Given the description of an element on the screen output the (x, y) to click on. 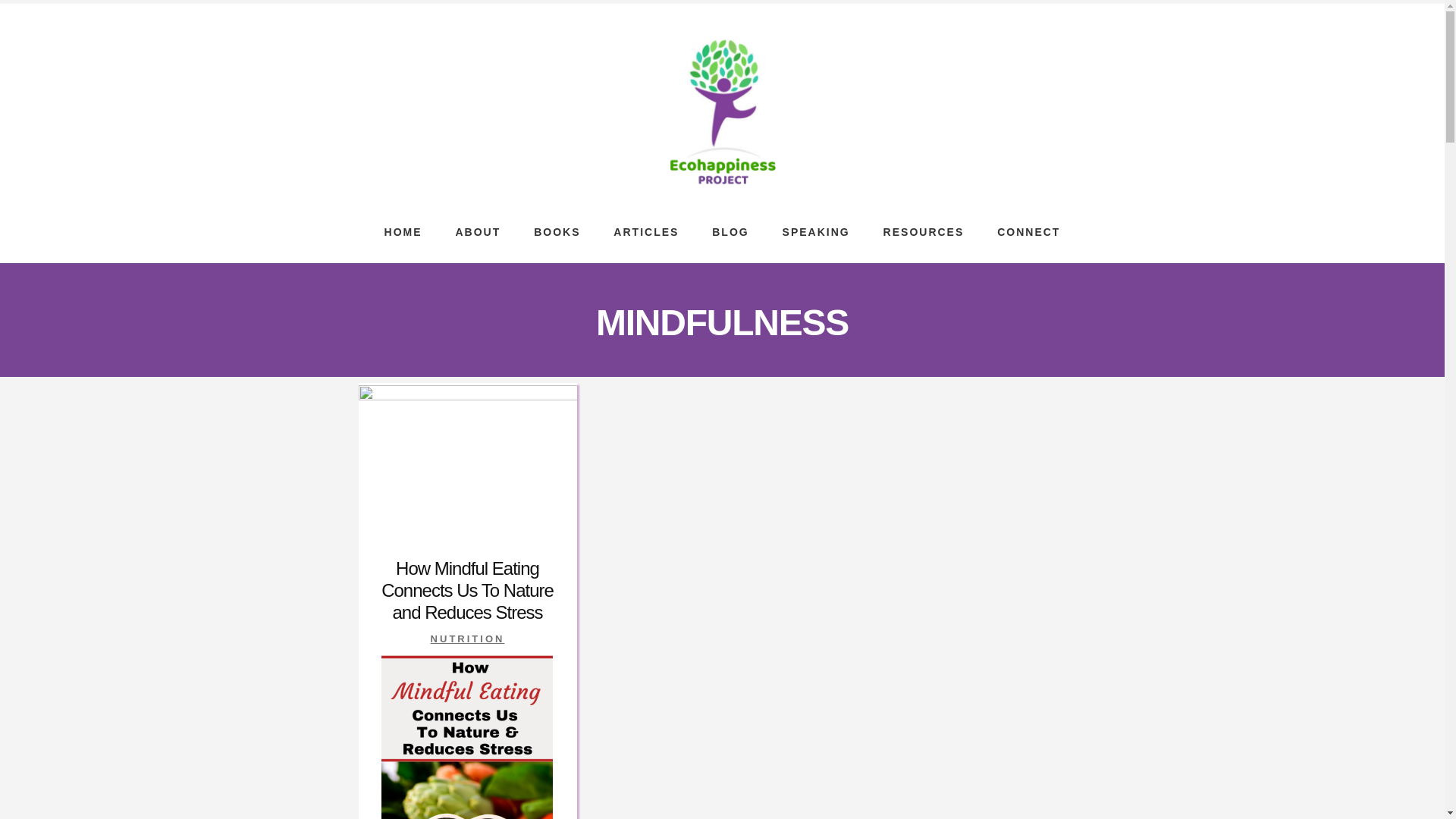
HOME (403, 227)
Vegetables with mindful eating sign (465, 737)
RESOURCES (923, 227)
NUTRITION (467, 638)
ARTICLES (646, 227)
How Mindful Eating Connects Us To Nature and Reduces Stress (467, 589)
SPEAKING (815, 227)
BLOG (729, 227)
ABOUT (477, 227)
BOOKS (556, 227)
CONNECT (1028, 227)
